Given the description of an element on the screen output the (x, y) to click on. 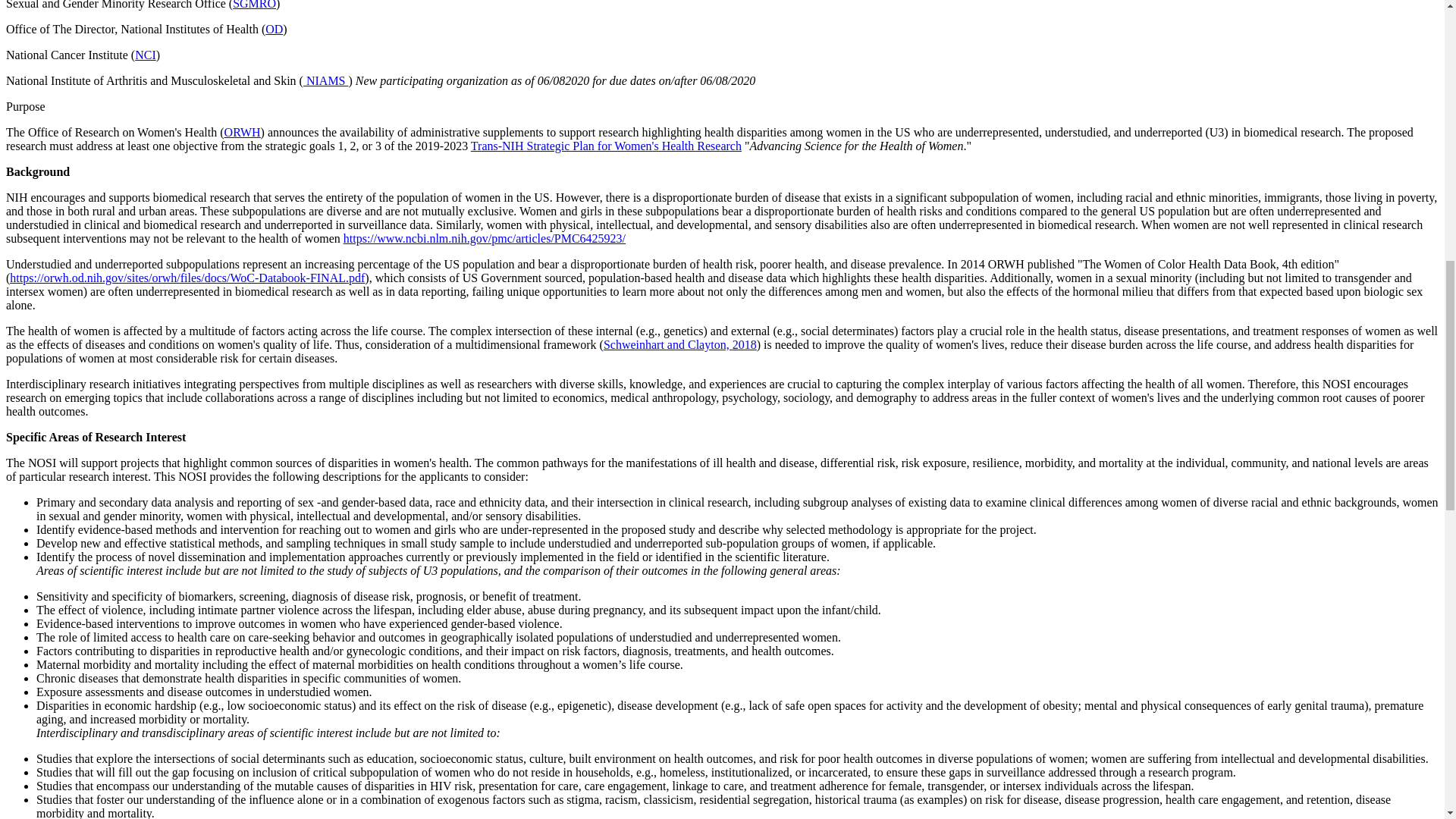
NIAMS (325, 80)
SGMRO (254, 4)
Trans-NIH Strategic Plan for Women's Health Research (605, 145)
NCI (145, 54)
ORWH (242, 132)
Schweinhart and Clayton, 2018 (680, 344)
OD (273, 29)
